Given the description of an element on the screen output the (x, y) to click on. 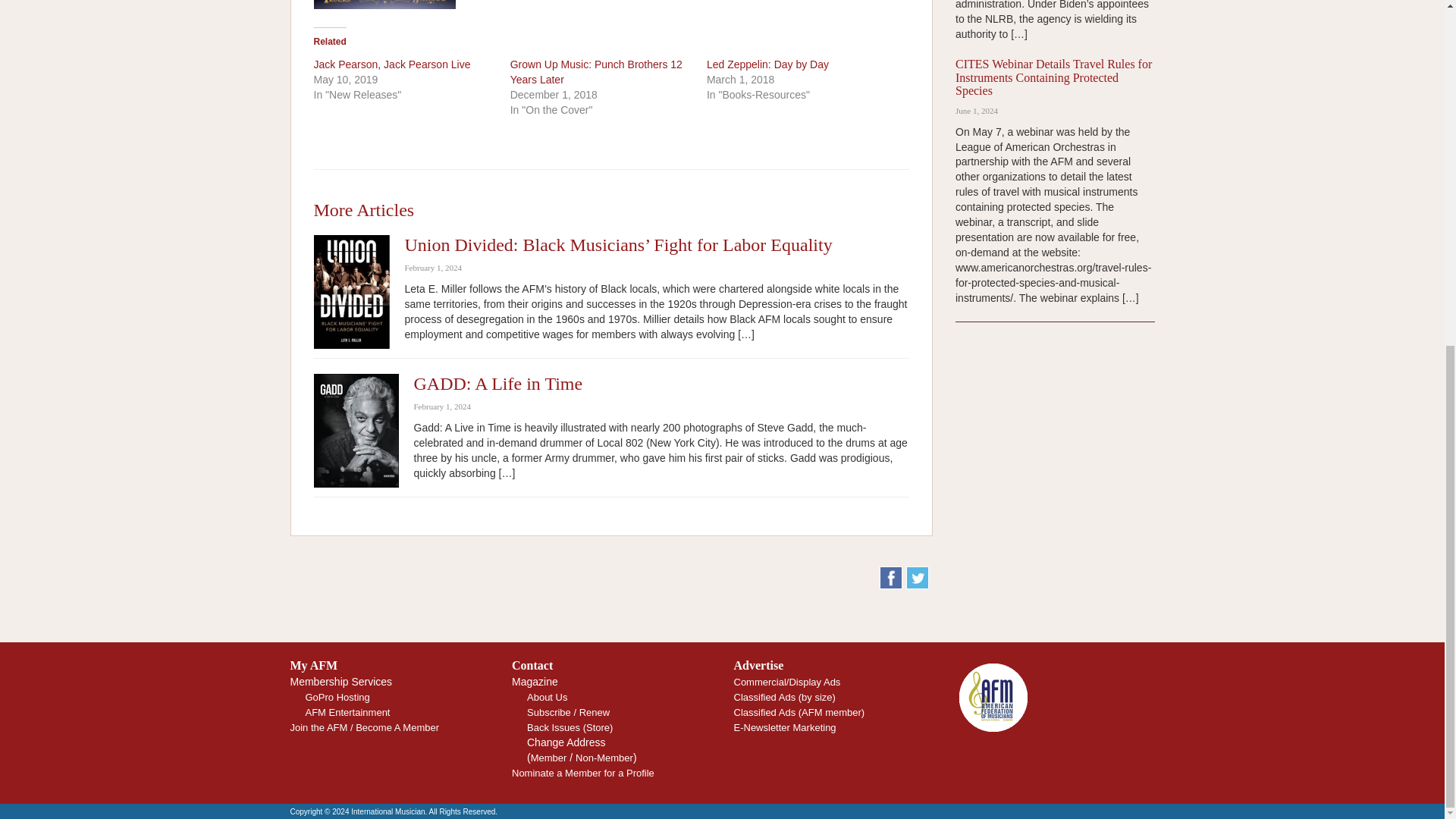
GADD: A Life in Time (498, 383)
Grown Up Music: Punch Brothers 12 Years Later (596, 71)
Jack Pearson, Jack Pearson Live (392, 64)
Led Zeppelin: Day by Day (767, 64)
